Given the description of an element on the screen output the (x, y) to click on. 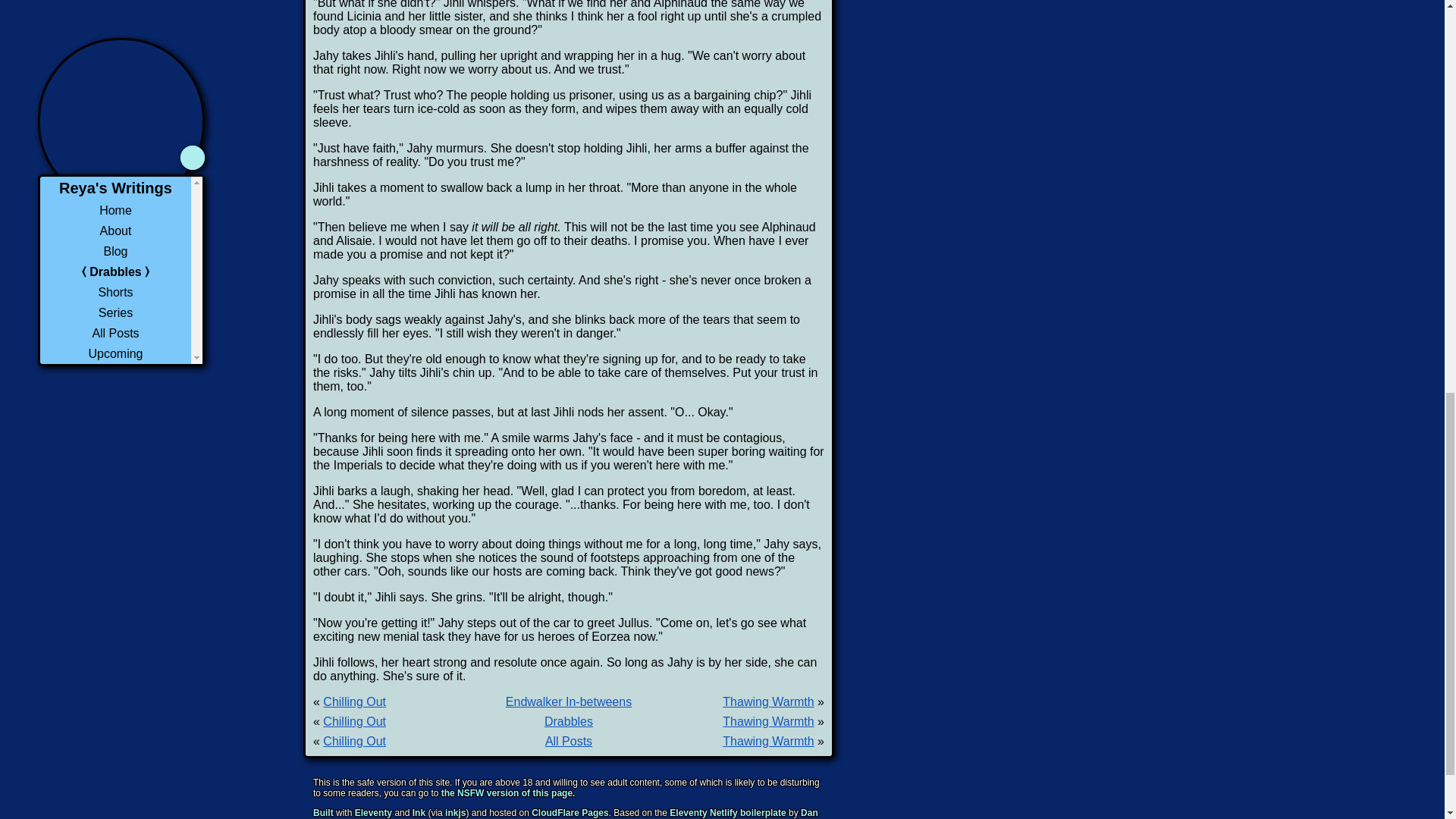
EerieViolet (487, 818)
Chilling Out (354, 721)
Drabbles (568, 721)
Thawing Warmth (767, 721)
All Posts (568, 740)
Ink (418, 812)
SimpleIcon (615, 818)
Built (323, 812)
Thawing Warmth (767, 740)
